Given the description of an element on the screen output the (x, y) to click on. 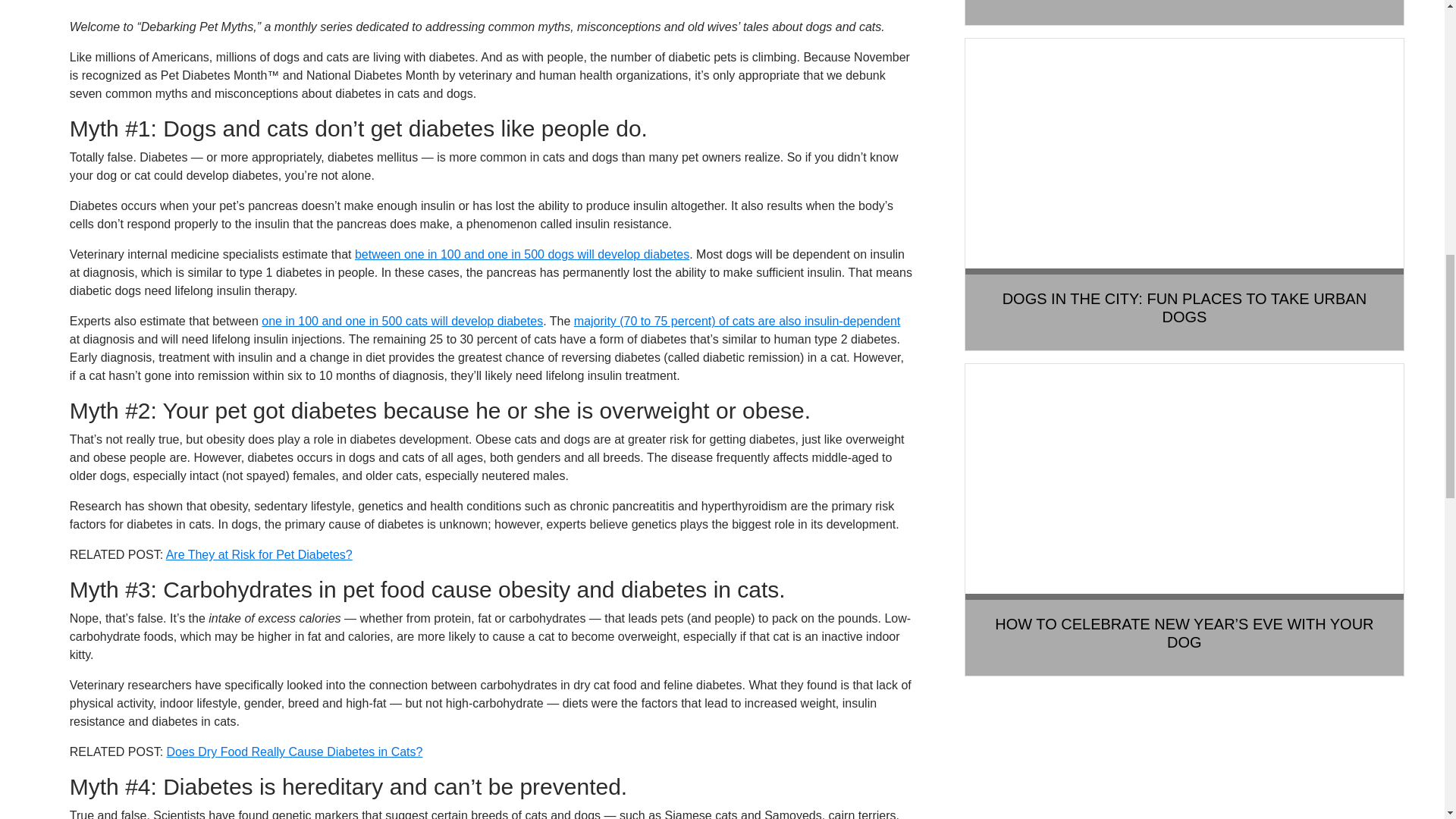
Managing feline diabetes: current perspectives (402, 320)
Clinical Suite: Feline Diabetes Mellitus (736, 320)
